Given the description of an element on the screen output the (x, y) to click on. 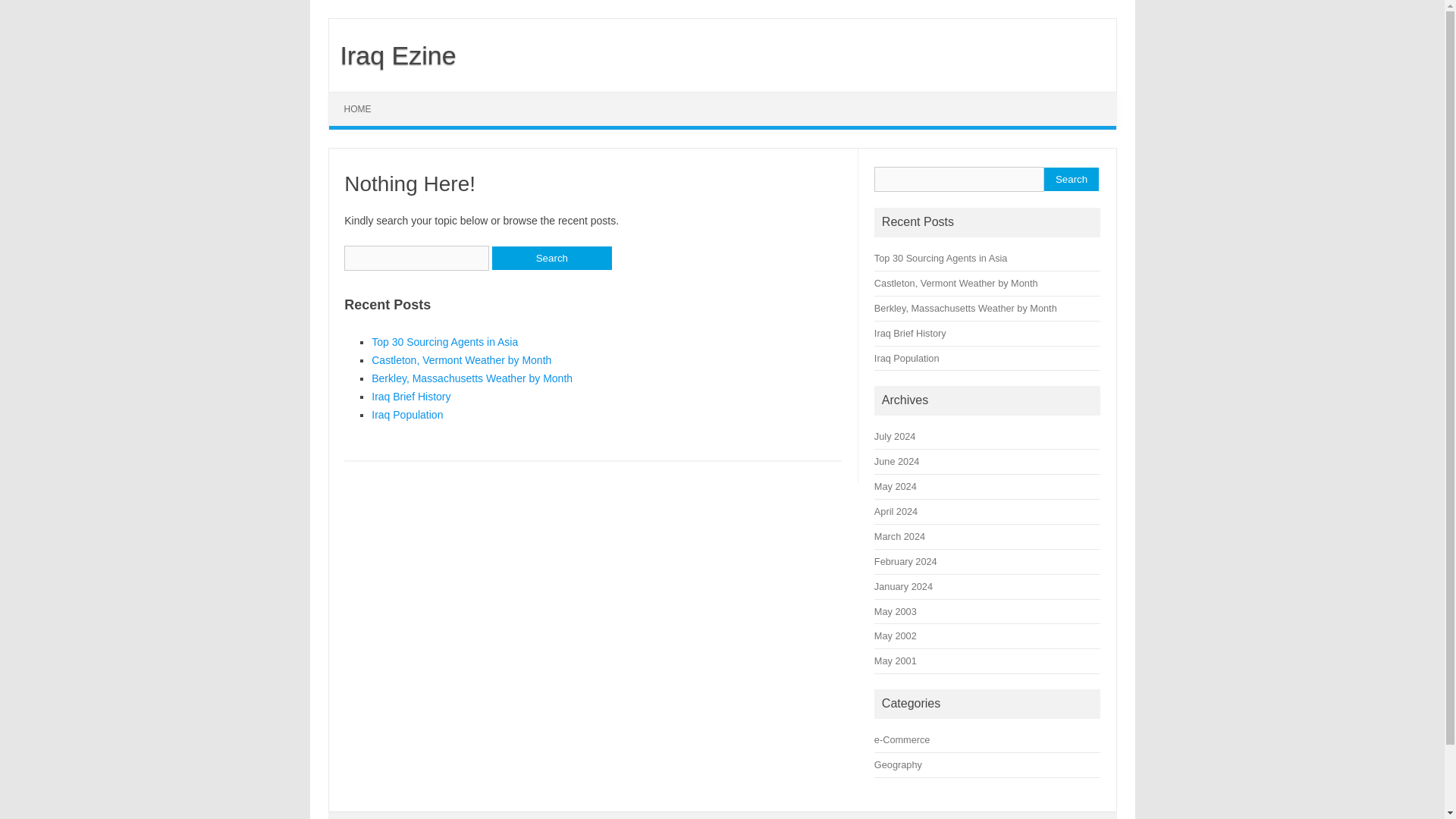
Castleton, Vermont Weather by Month (461, 359)
e-Commerce (902, 739)
Search (1070, 178)
Top 30 Sourcing Agents in Asia (444, 341)
May 2001 (896, 660)
May 2024 (896, 486)
Iraq Brief History (410, 396)
Berkley, Massachusetts Weather by Month (966, 307)
Top 30 Sourcing Agents in Asia (941, 257)
January 2024 (904, 586)
March 2024 (899, 536)
Iraq Brief History (910, 333)
June 2024 (896, 460)
Berkley, Massachusetts Weather by Month (471, 378)
Iraq Ezine (393, 54)
